Given the description of an element on the screen output the (x, y) to click on. 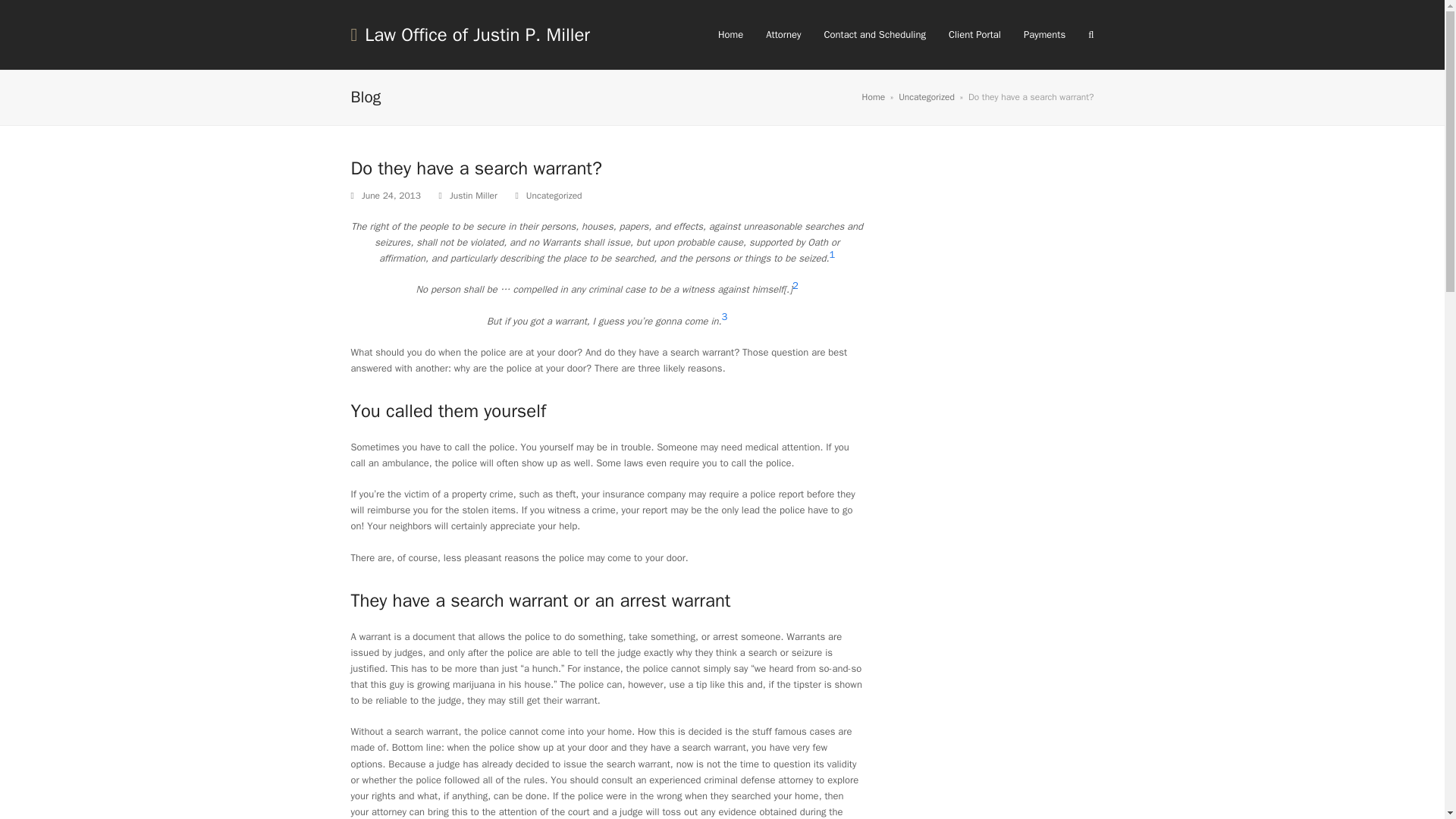
Contact and Scheduling (874, 34)
Justin Miller (473, 195)
Law Office of Justin P. Miller (469, 34)
Home (730, 34)
Home (873, 96)
Uncategorized (926, 96)
Uncategorized (553, 195)
Client Portal (974, 34)
Payments (1044, 34)
Posts by Justin Miller (473, 195)
